Given the description of an element on the screen output the (x, y) to click on. 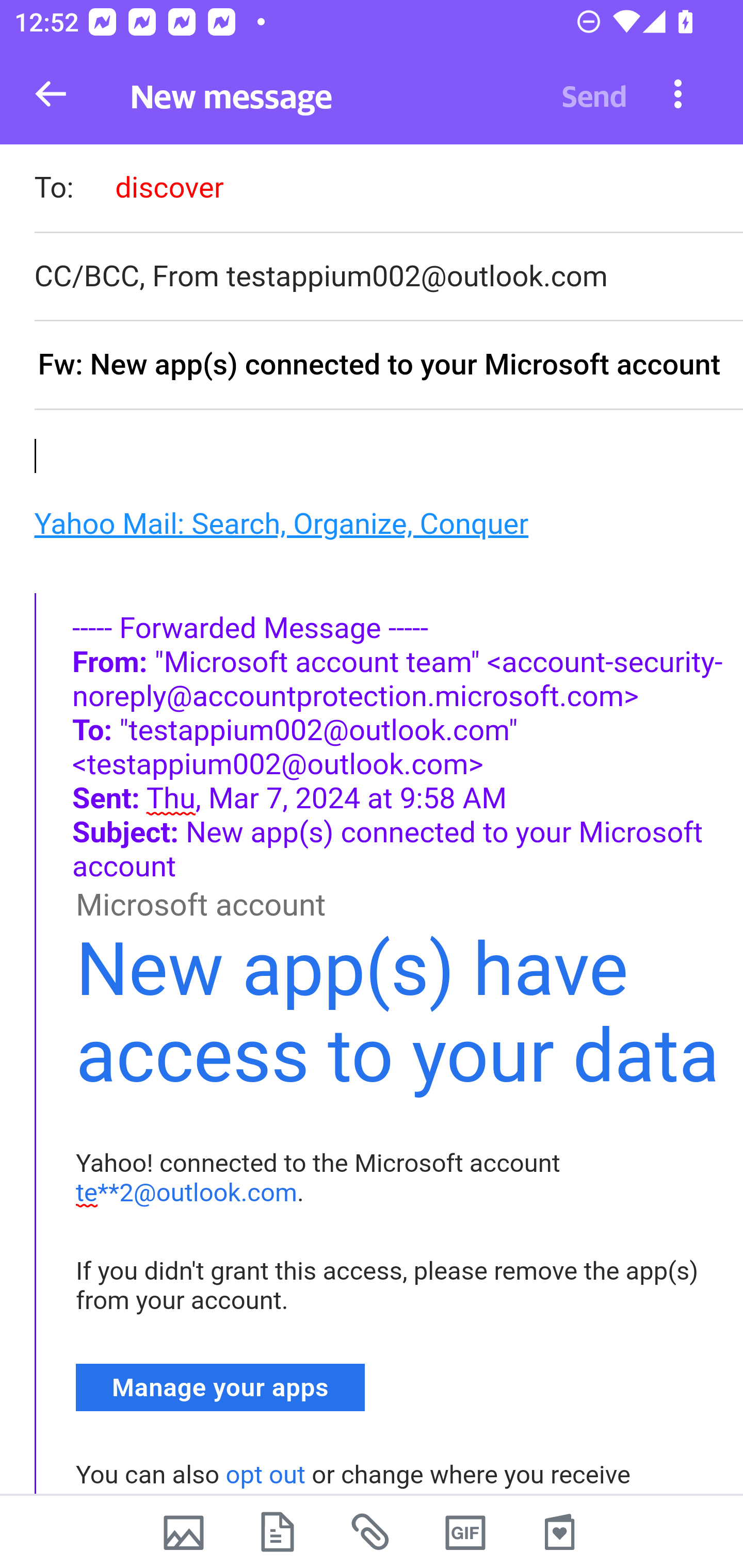
Back (50, 93)
Send (594, 93)
More options (677, 93)
To: discover (387, 189)
discover (169, 187)
CC/BCC, From testappium002@outlook.com (387, 276)
Fw: New app(s) connected to your Microsoft account (387, 365)
Yahoo Mail: Search, Organize, Conquer (280, 522)
te**2@outlook.com (186, 1192)
Manage your apps (220, 1386)
opt out (264, 1474)
Camera photos (183, 1531)
Device files (277, 1531)
Recent attachments from mail (371, 1531)
GIFs (465, 1531)
Stationery (559, 1531)
